Given the description of an element on the screen output the (x, y) to click on. 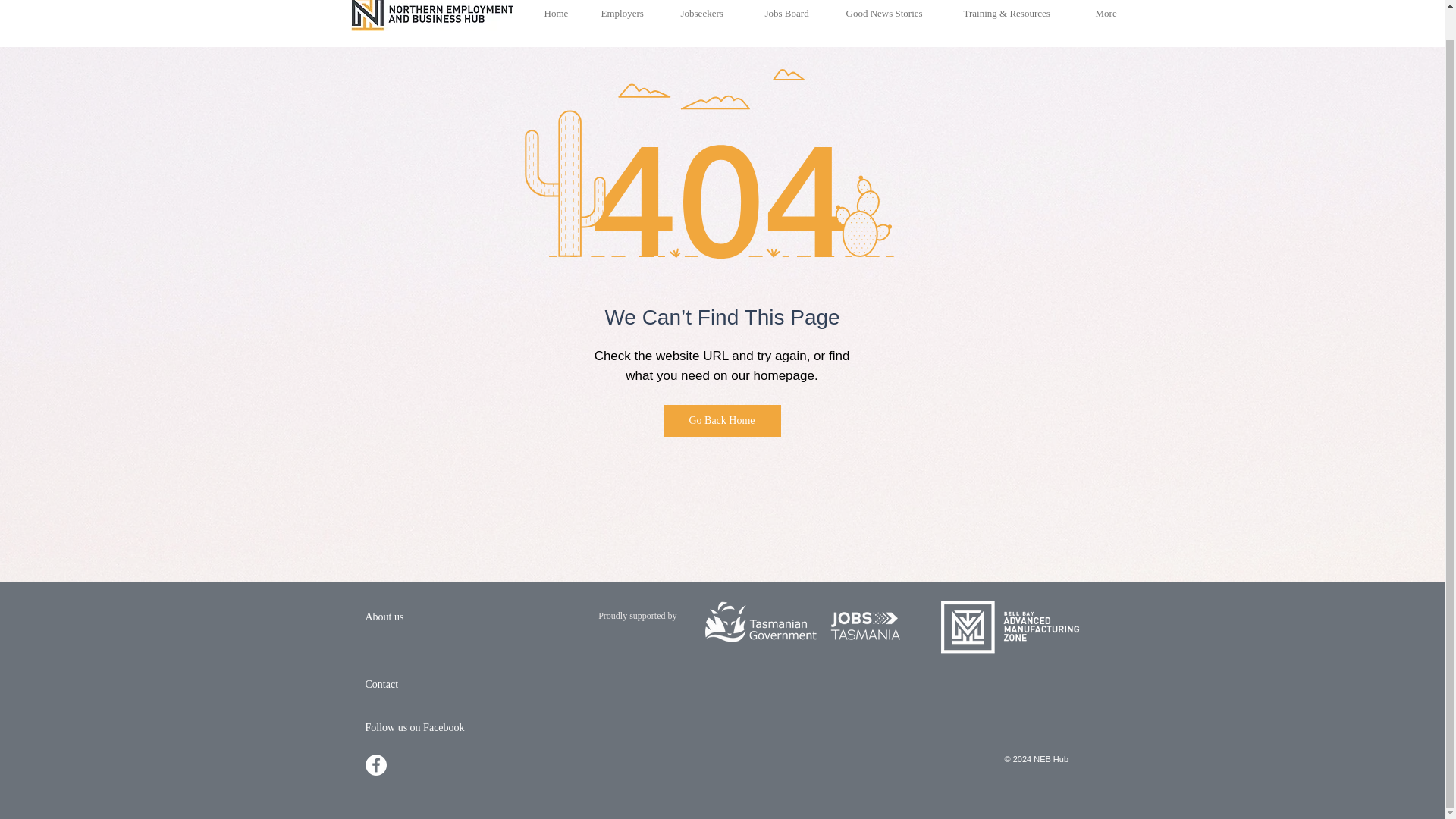
Jobseekers (710, 13)
Contact (381, 684)
Go Back Home (721, 420)
Good News Stories (893, 13)
Follow us on Facebook (414, 727)
Employers (629, 13)
About us (384, 616)
Home (560, 13)
Jobs Board (794, 13)
